Given the description of an element on the screen output the (x, y) to click on. 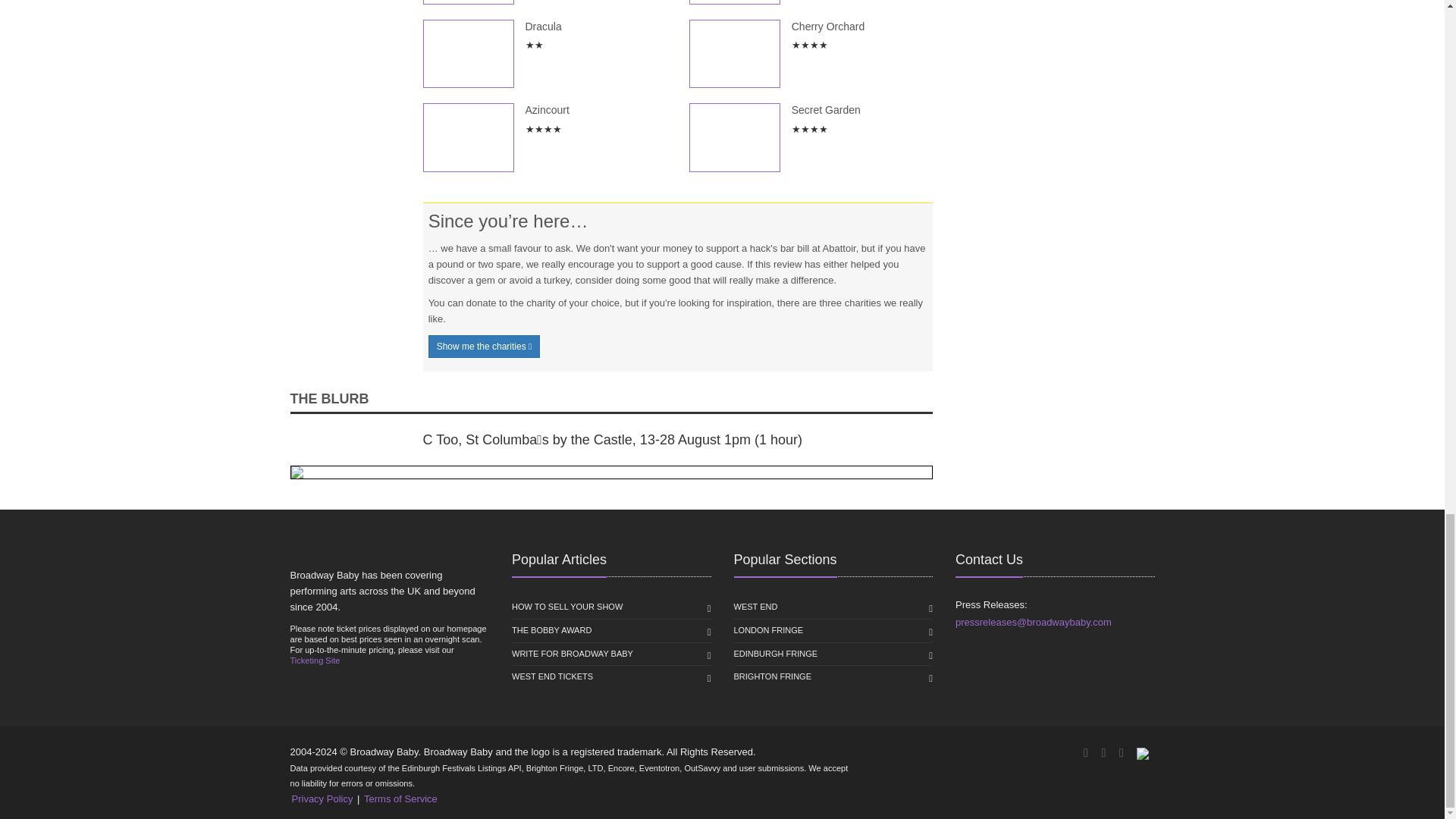
Jesus Christ Superstar (734, 2)
Cherry Orchard (734, 53)
History Boys (468, 2)
Secret Garden (734, 137)
Dracula (468, 53)
Azincourt (468, 137)
